Given the description of an element on the screen output the (x, y) to click on. 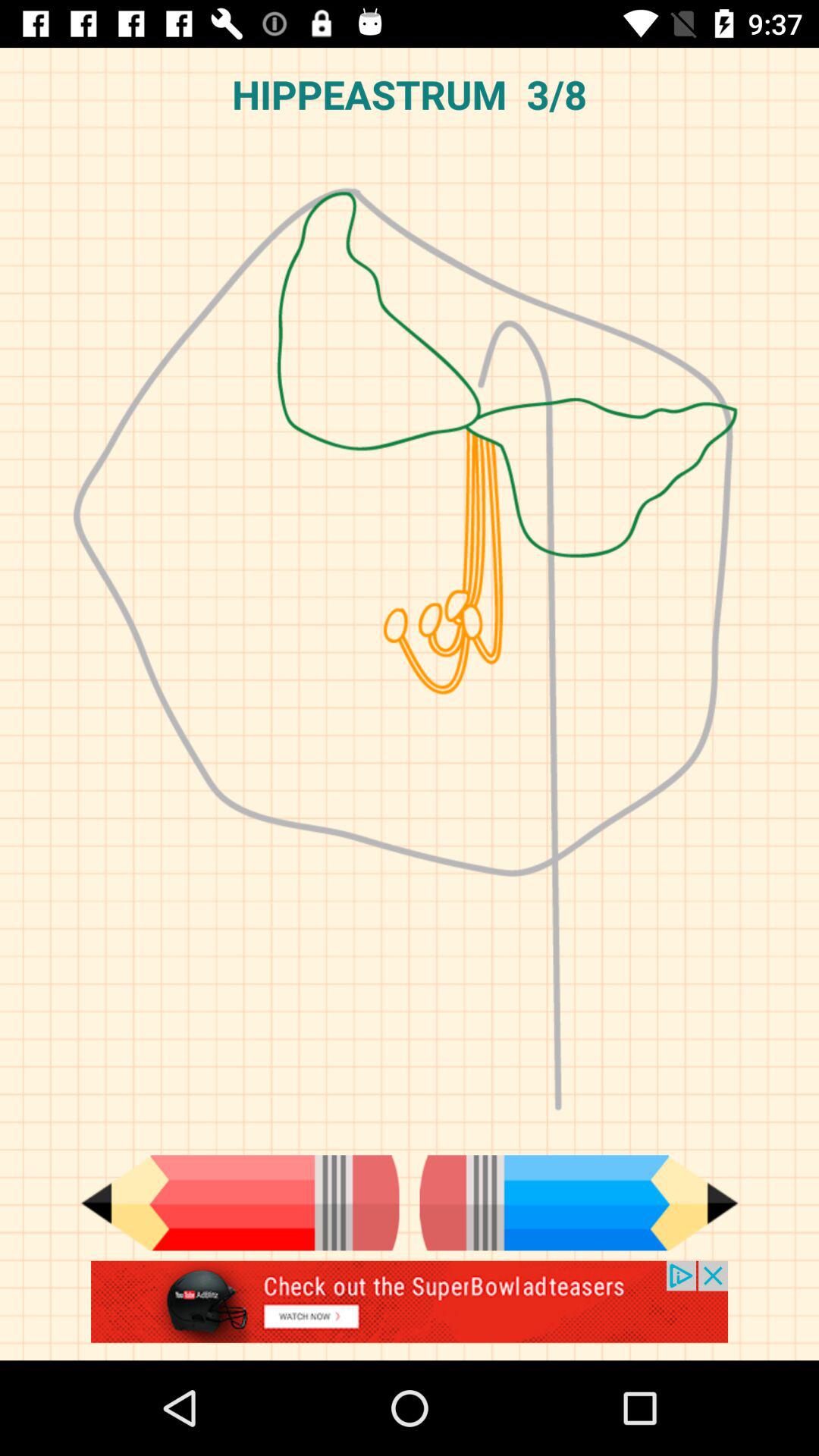
select pencil to draw (578, 1202)
